Given the description of an element on the screen output the (x, y) to click on. 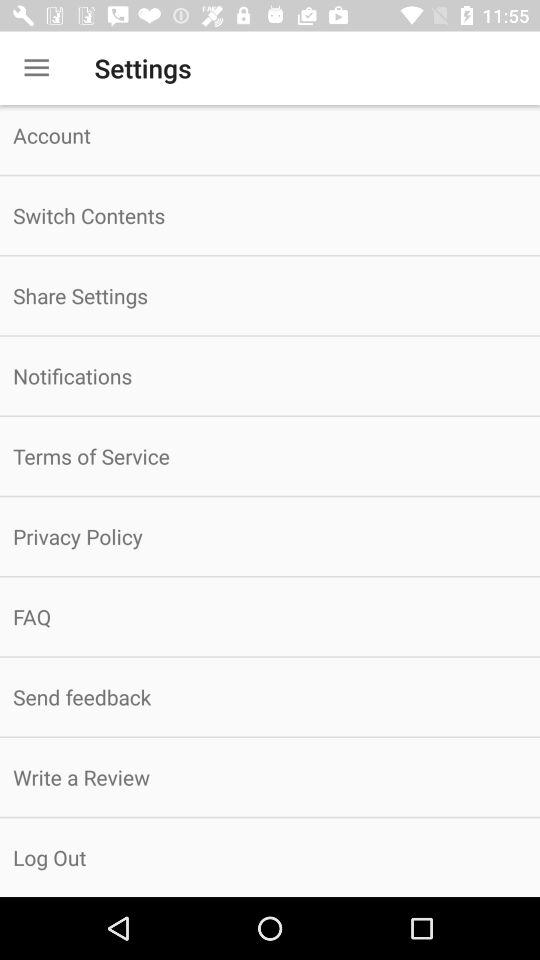
scroll to the notifications icon (270, 375)
